Given the description of an element on the screen output the (x, y) to click on. 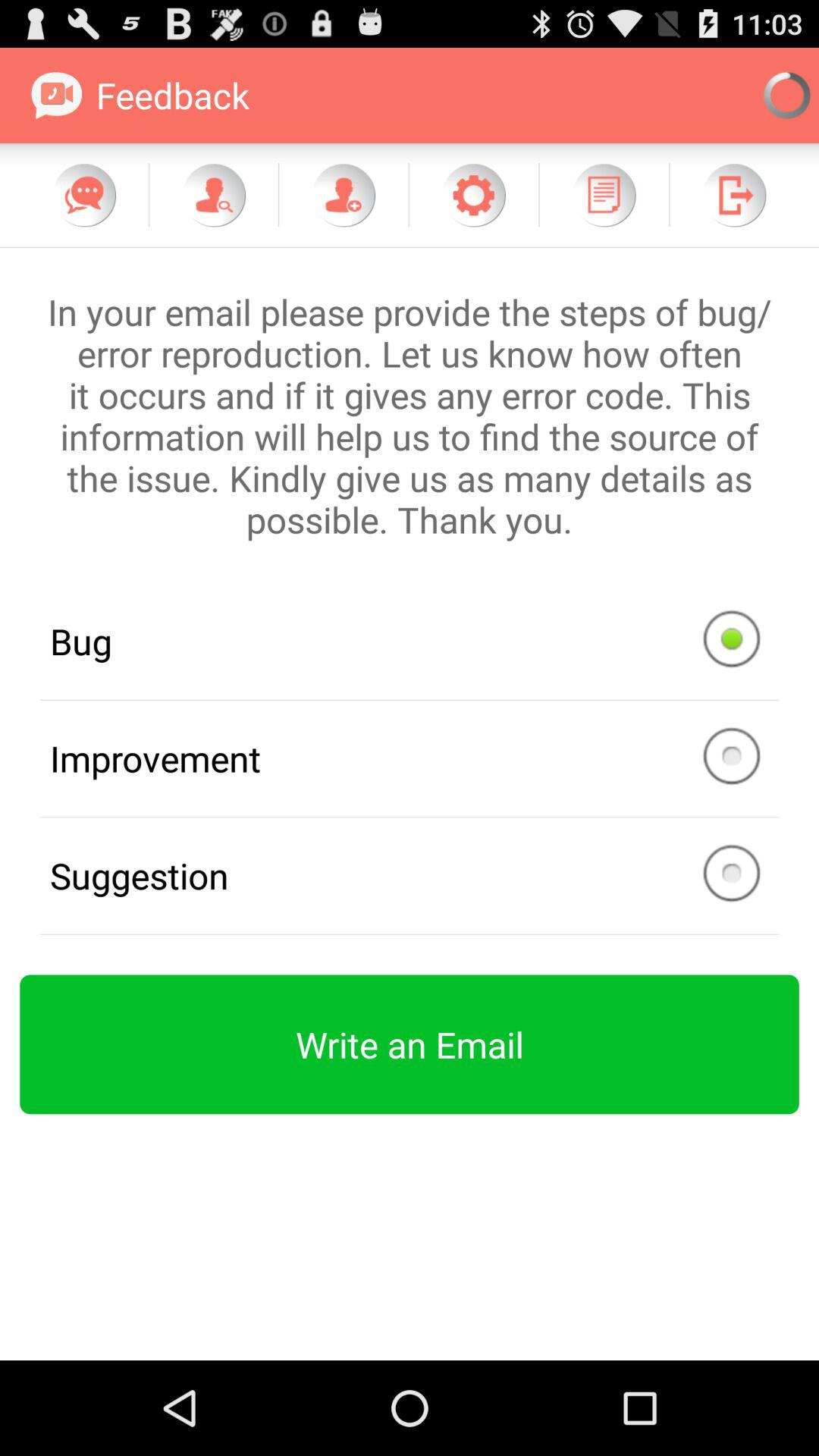
select the text below bug (409, 758)
select the third icon in the first row (343, 195)
select the button above green color button (409, 876)
click on setting button which is at the top of the page (474, 195)
select the text at the top left of the page below b of top bar (140, 95)
